Given the description of an element on the screen output the (x, y) to click on. 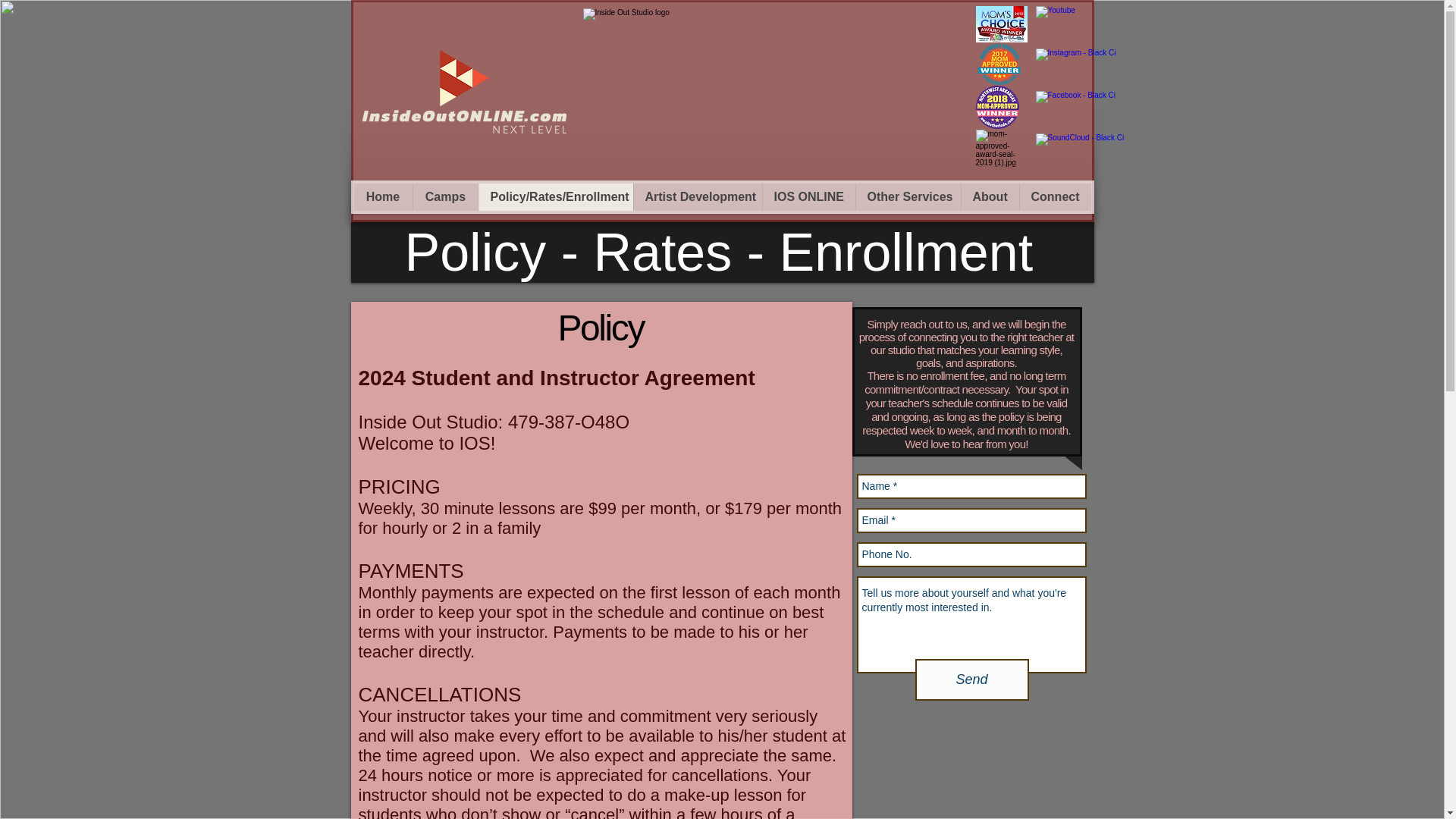
IOS ONLINE (807, 196)
Home (382, 196)
Connect (1054, 196)
Send (970, 680)
About (988, 196)
Artist Development (696, 196)
Other Services (908, 196)
Camps (445, 196)
